Given the description of an element on the screen output the (x, y) to click on. 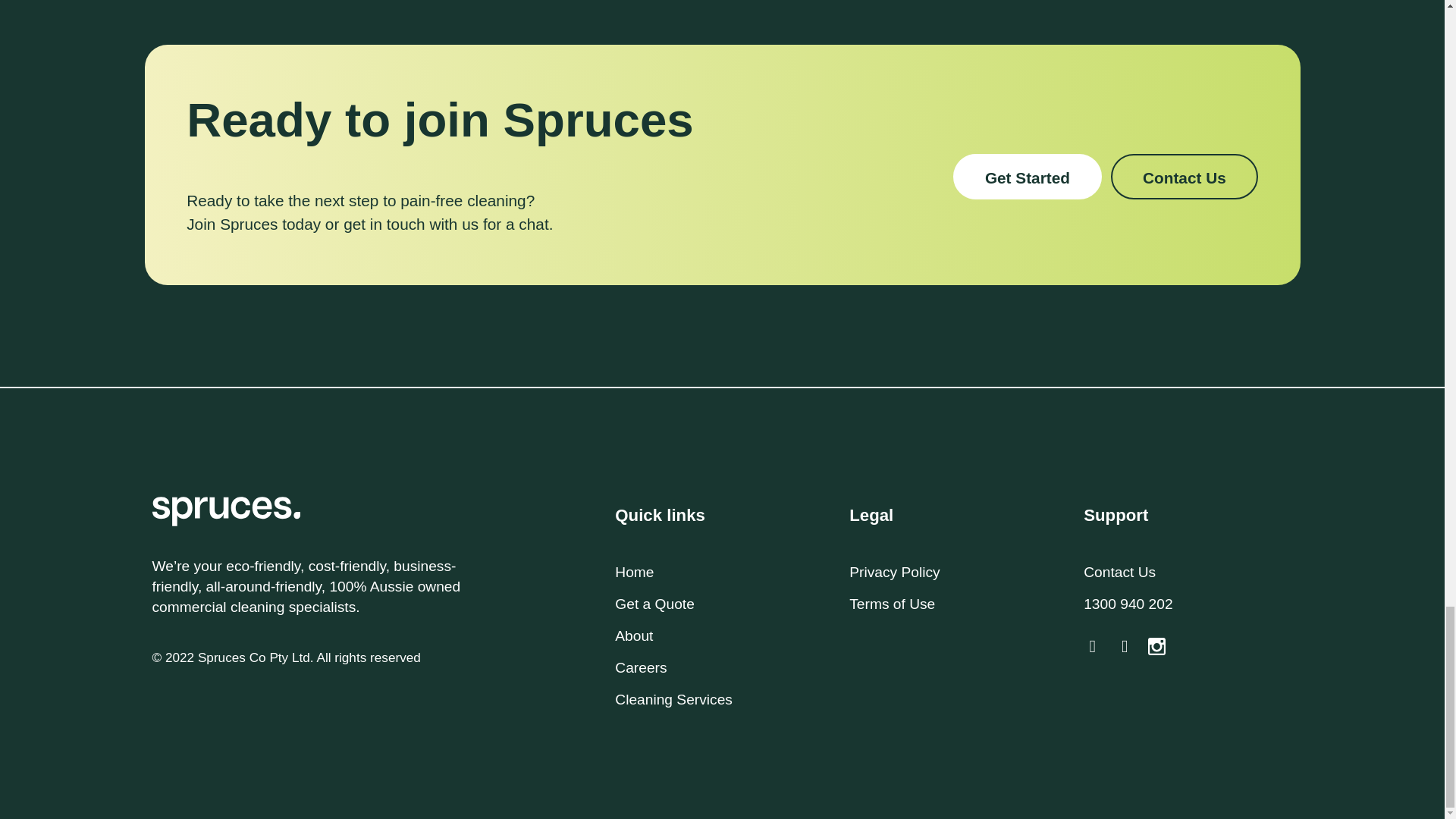
Home (633, 571)
Get a Quote (654, 603)
Get Started (1027, 176)
Terms of Use (891, 603)
Cleaning Services (673, 699)
Contact Us (1183, 176)
Privacy Policy (893, 571)
About (633, 635)
Careers (640, 667)
